Given the description of an element on the screen output the (x, y) to click on. 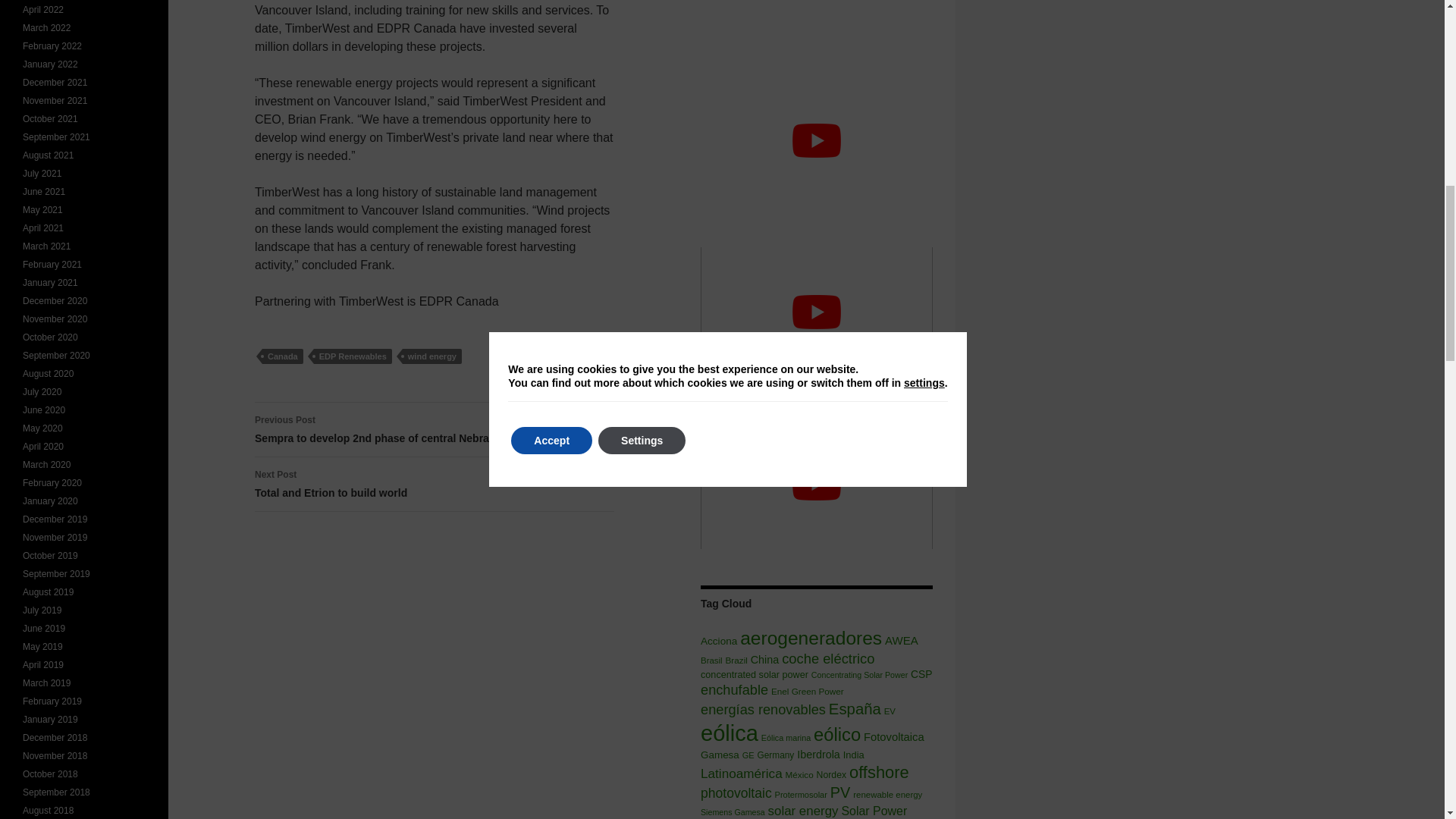
Canada (434, 484)
Brazil (282, 355)
aerogeneradores (736, 660)
EDP Renewables (810, 638)
AWEA (352, 355)
wind energy (901, 640)
Brasil (432, 355)
Acciona (711, 660)
